Given the description of an element on the screen output the (x, y) to click on. 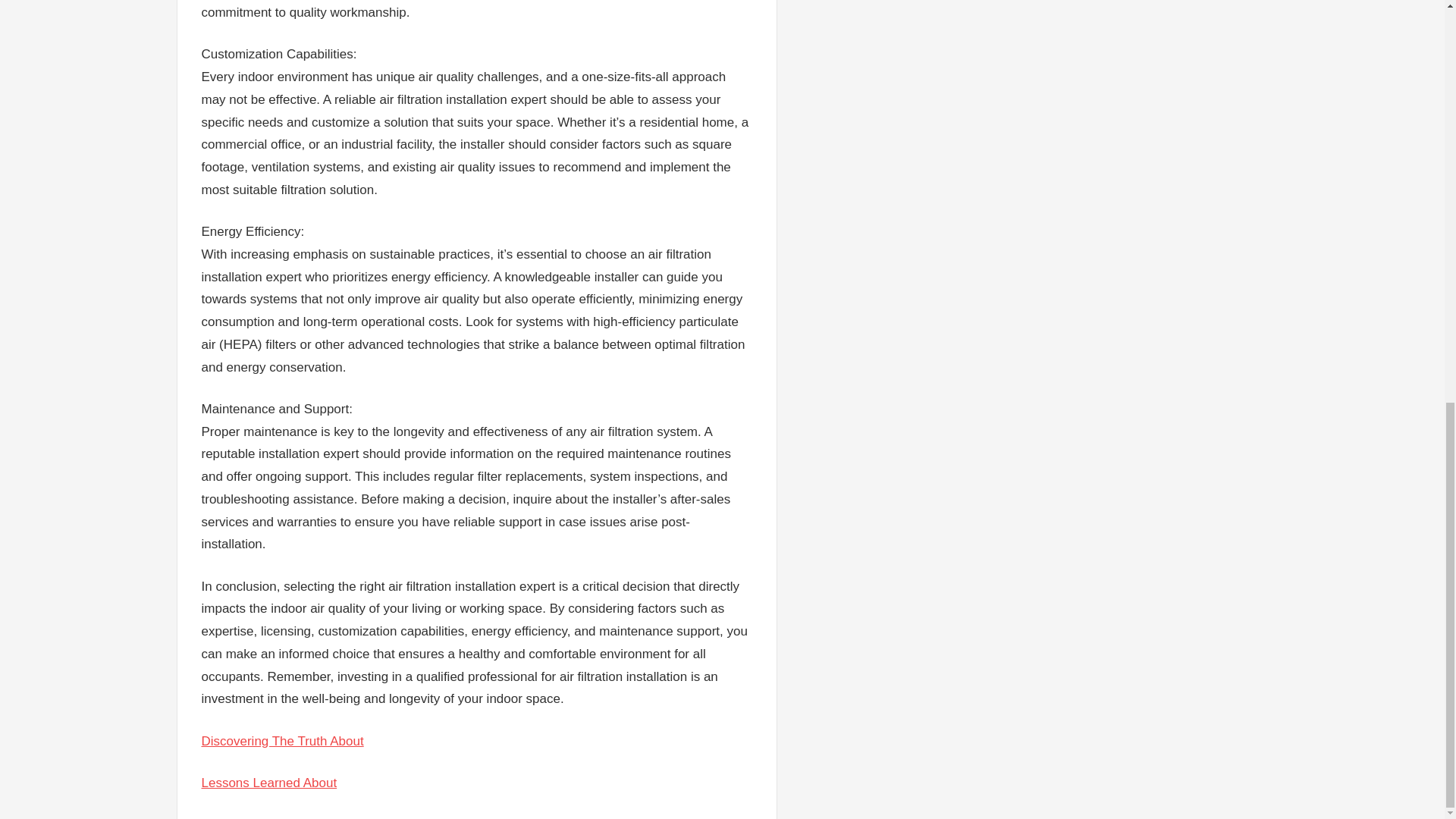
Discovering The Truth About (283, 740)
Lessons Learned About (269, 782)
